Given the description of an element on the screen output the (x, y) to click on. 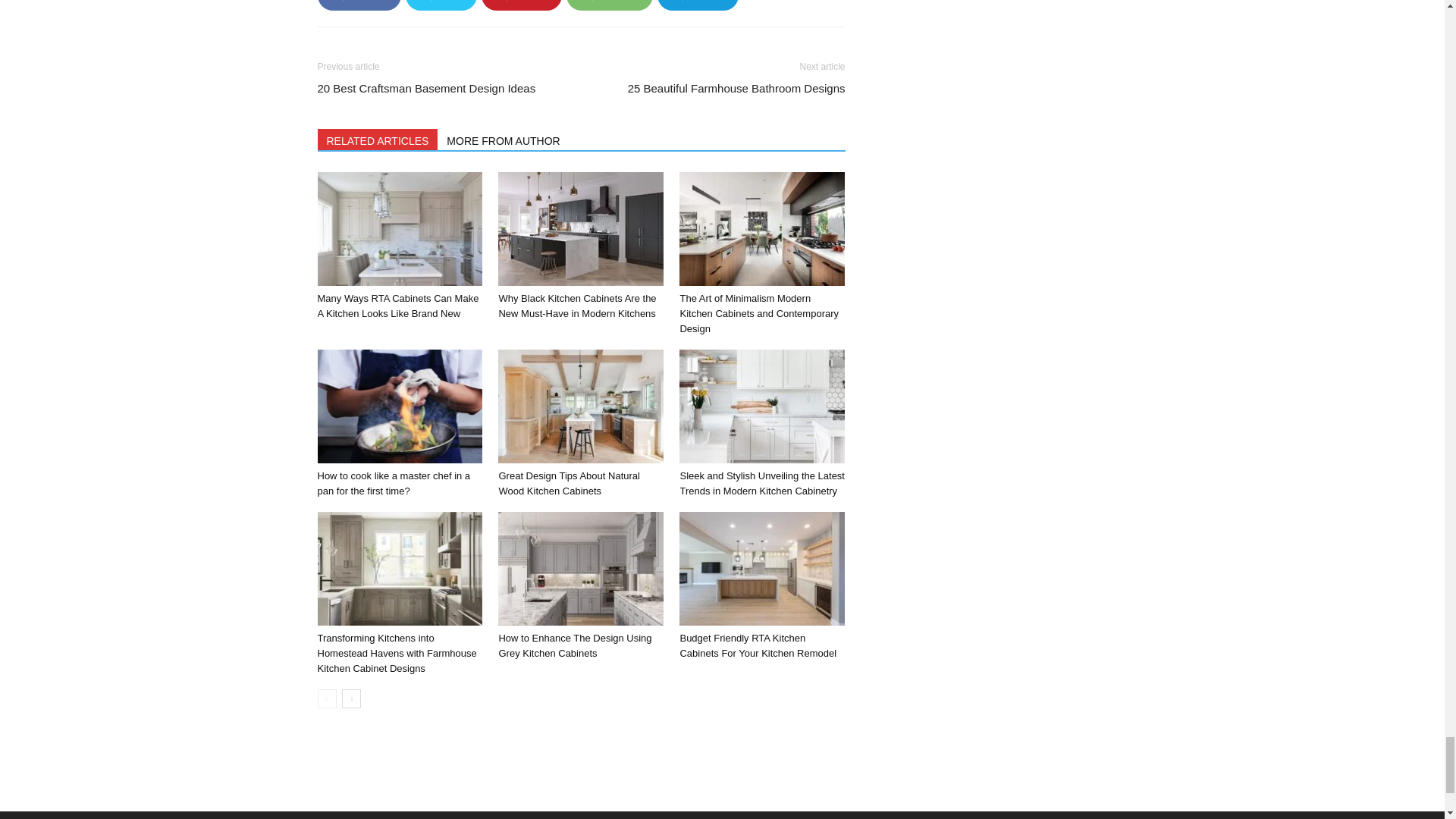
WhatsApp (609, 5)
Facebook (358, 5)
Pinterest (520, 5)
Twitter (441, 5)
